Given the description of an element on the screen output the (x, y) to click on. 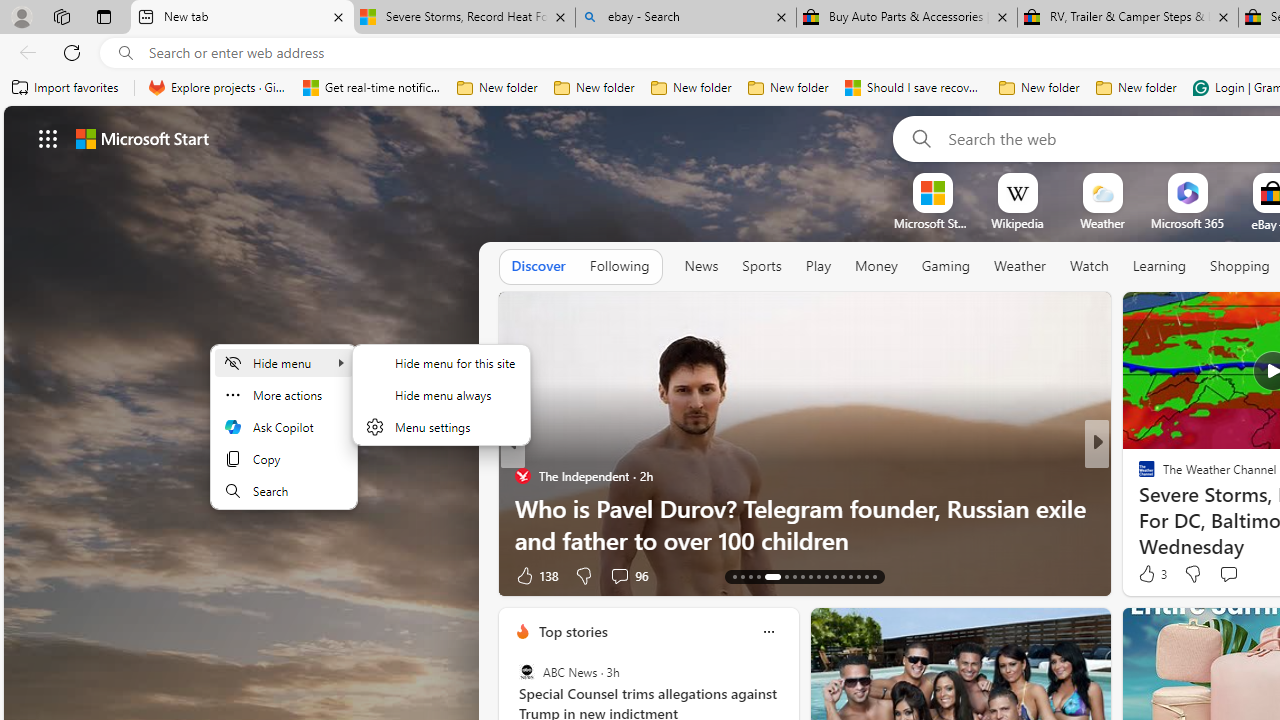
Class: icon-img (768, 632)
ABC News (526, 672)
Hide menu for this site (441, 362)
View comments 8 Comment (1234, 574)
View comments 96 Comment (628, 574)
Hide menu (441, 407)
AutomationID: tab-22 (818, 576)
AutomationID: tab-29 (874, 576)
